Given the description of an element on the screen output the (x, y) to click on. 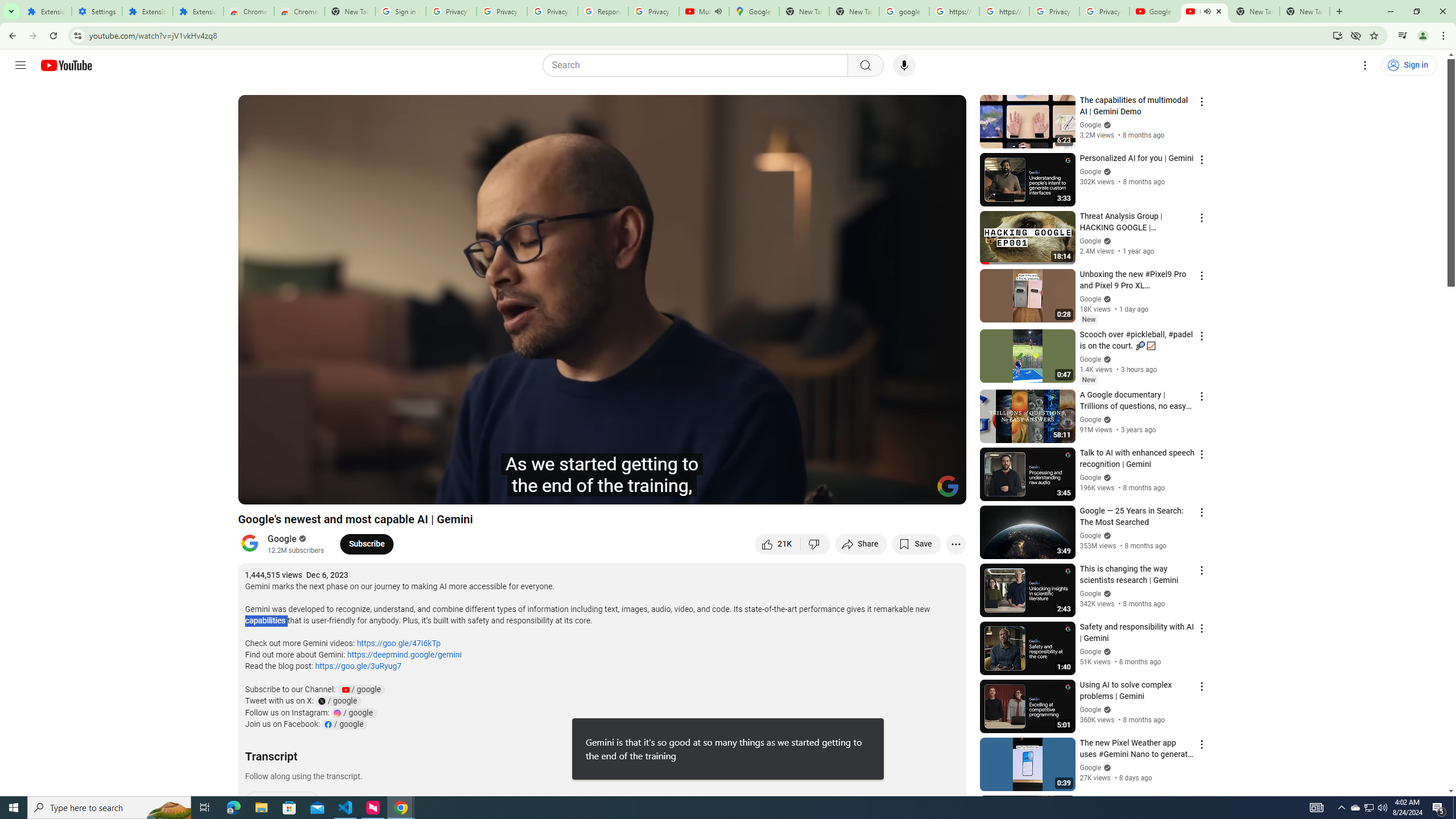
Seek slider (601, 476)
Settings (1365, 65)
Mute tab (1206, 10)
like this video along with 21,118 other people (777, 543)
Extensions (146, 11)
